Given the description of an element on the screen output the (x, y) to click on. 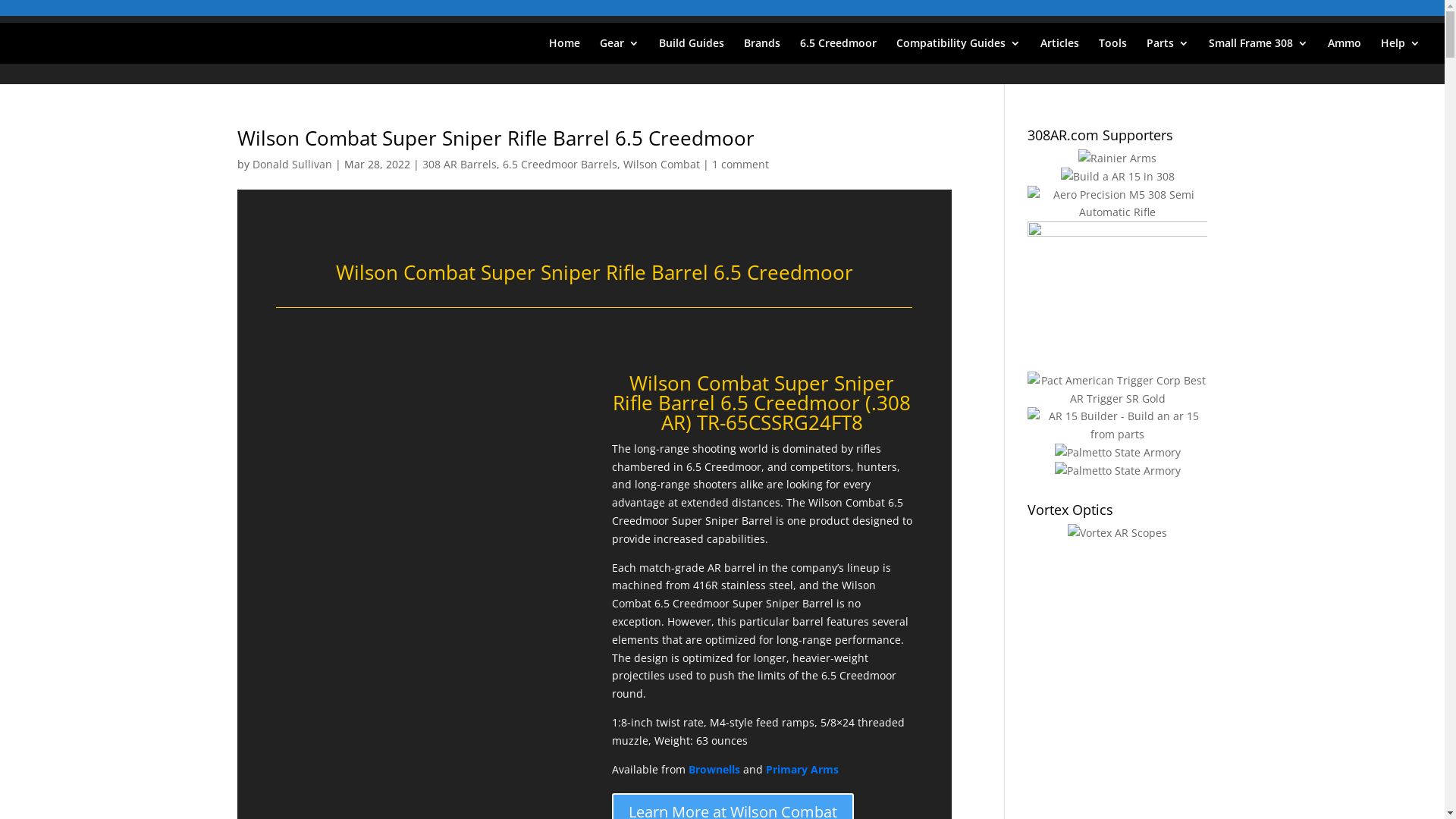
Palmetto State Armory Element type: hover (1117, 470)
Palmetto State Armory Element type: hover (1117, 452)
Home Element type: text (564, 50)
Help Element type: text (1400, 50)
Vortex AR Scopes Element type: hover (1117, 533)
Parts Element type: text (1167, 50)
Small Frame 308 Element type: text (1258, 50)
Compatibility Guides Element type: text (958, 50)
308 AR Barrels Element type: text (458, 163)
Tools Element type: text (1112, 50)
ar15 builder Element type: hover (1117, 425)
Ammo Element type: text (1344, 50)
Aero Precision M5 308 Semi Automatic Rifle Element type: hover (1117, 203)
Articles Element type: text (1059, 50)
Brands Element type: text (761, 50)
1 comment Element type: text (739, 163)
Primary Arms Element type: text (801, 769)
Brownells Element type: text (714, 769)
Build Guides Element type: text (691, 50)
Build a  AR 15 in 308 Element type: hover (1117, 176)
Wilson Combat Super Sniper Rifle Barrel 6.5 Creedmoor Element type: text (494, 137)
6.5 Creedmoor Barrels Element type: text (559, 163)
SR Gold AR Trigger Element type: hover (1117, 389)
Rainier Arms Element type: hover (1117, 158)
Donald Sullivan Element type: text (291, 163)
Gear Element type: text (619, 50)
Wilson Combat Element type: text (661, 163)
6.5 Creedmoor Element type: text (838, 50)
